Given the description of an element on the screen output the (x, y) to click on. 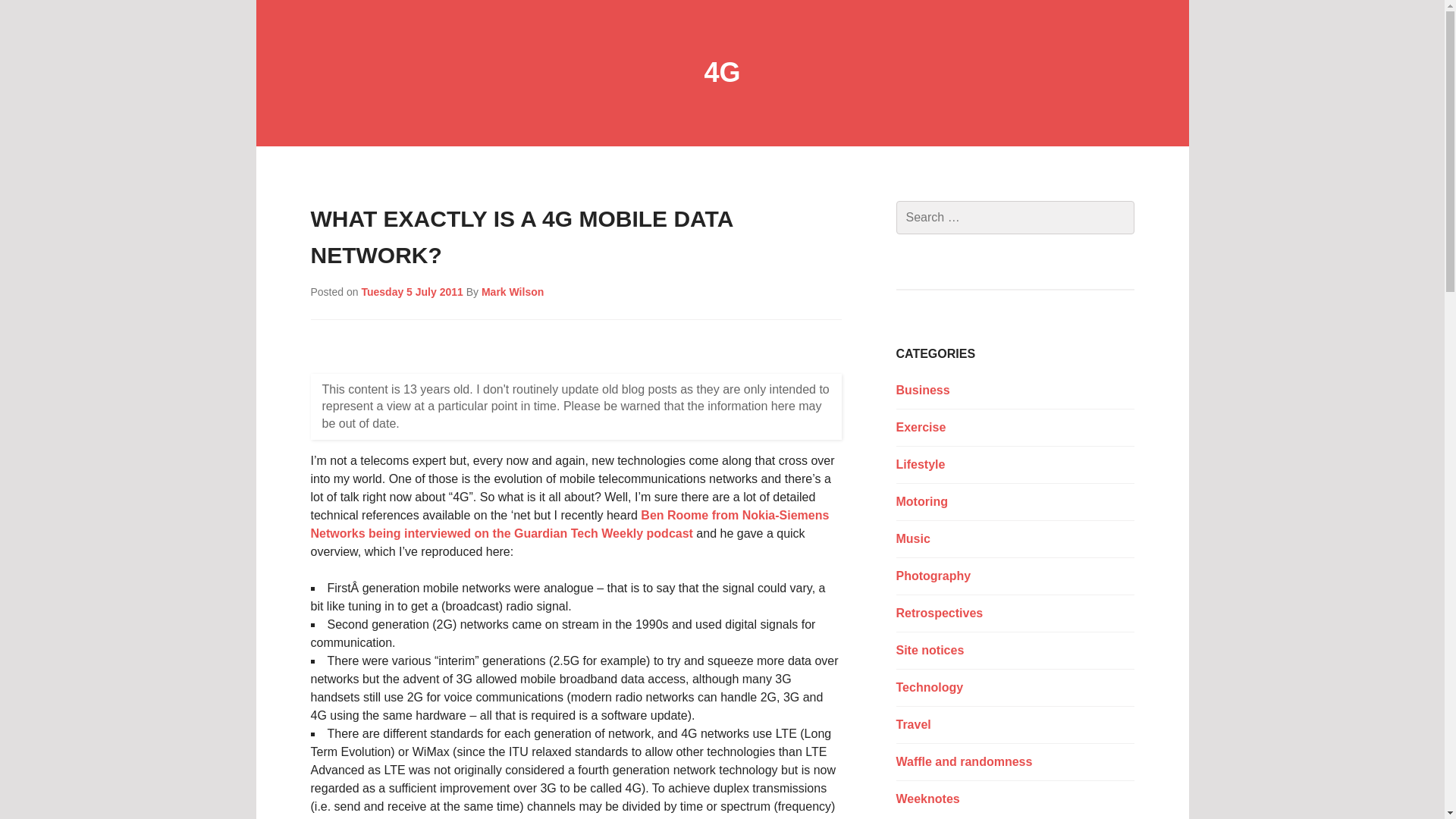
WHAT EXACTLY IS A 4G MOBILE DATA NETWORK? (522, 236)
Lifestyle (920, 463)
Tuesday 5 July 2011 (412, 291)
Photography (933, 575)
Mark Wilson (512, 291)
Waffle and randomness (964, 761)
Exercise (921, 427)
Site notices (929, 649)
Search (45, 16)
